Given the description of an element on the screen output the (x, y) to click on. 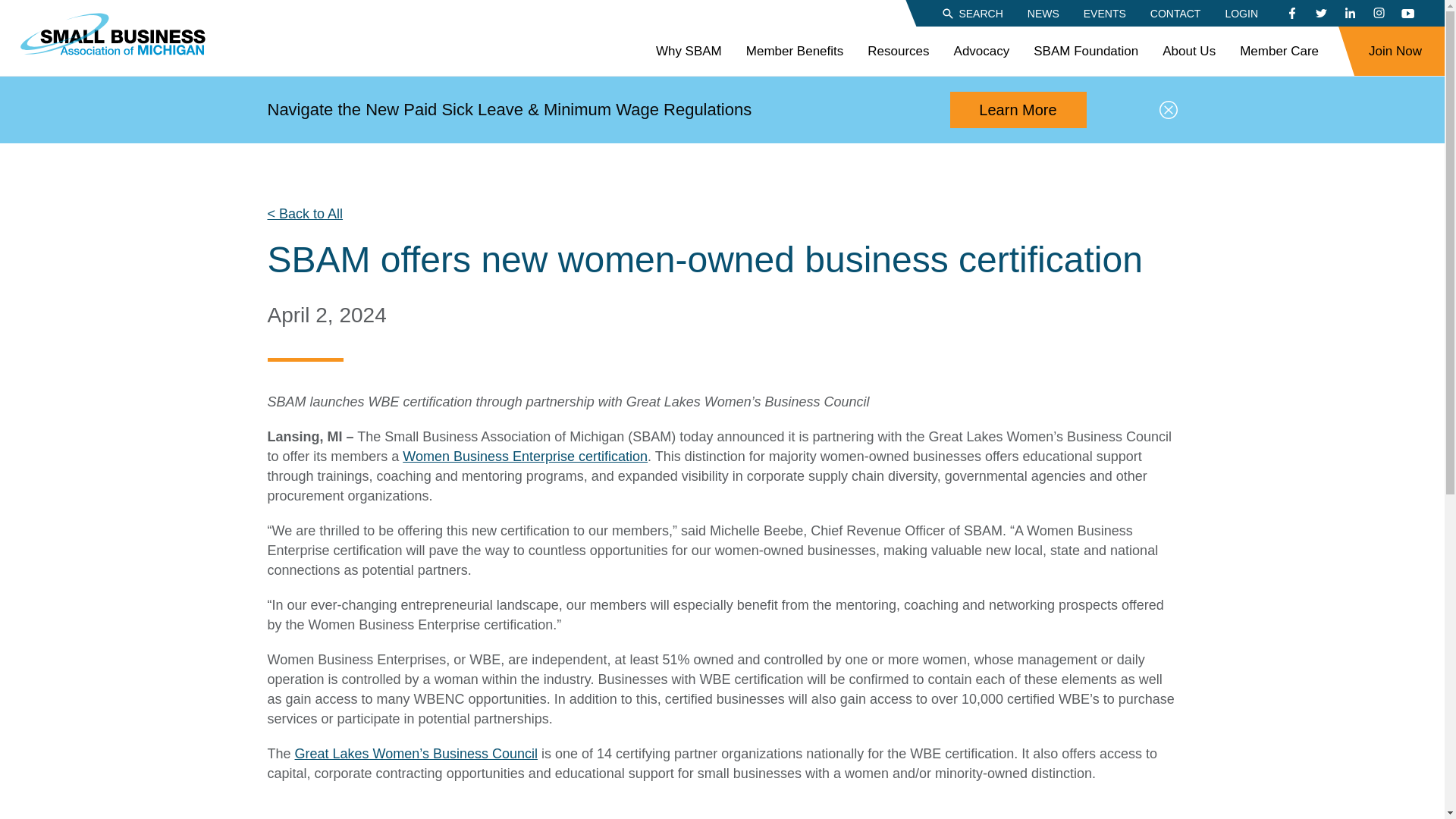
EVENTS (1104, 12)
INSTAGRAM (1378, 13)
Why SBAM (688, 51)
CONTACT (1175, 12)
Member Benefits (794, 51)
NEWS (1043, 12)
FACEBOOK (1292, 13)
Skip to main content (11, 7)
YOUTUBE (1407, 13)
TWITTER (1320, 13)
SEARCH (971, 12)
LOGIN (1241, 12)
LINKEDIN (1349, 13)
